Given the description of an element on the screen output the (x, y) to click on. 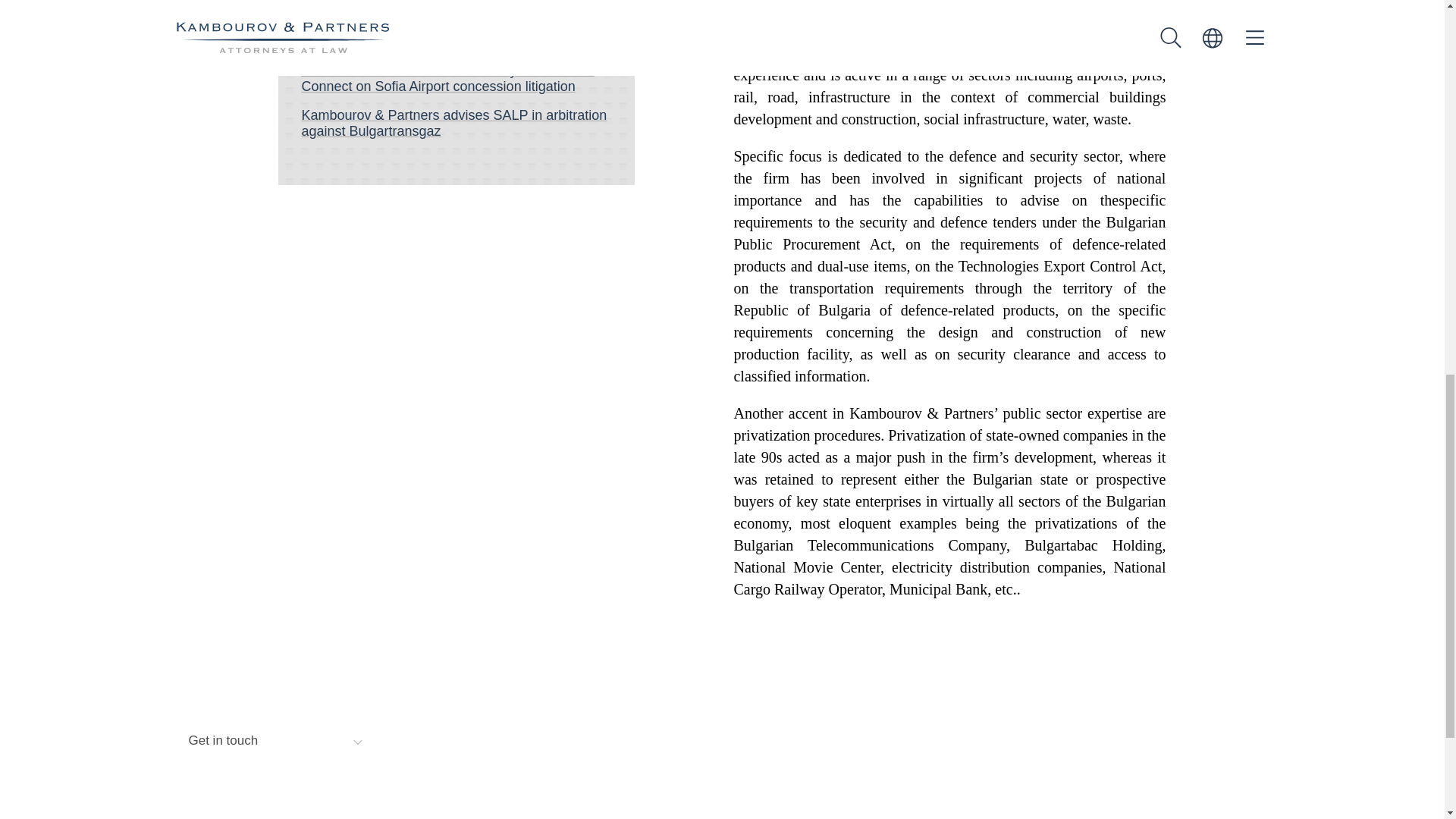
Back to Top (1246, 740)
Latest amendments to the Concessions Act: A tour d'horizon (456, 2)
